Given the description of an element on the screen output the (x, y) to click on. 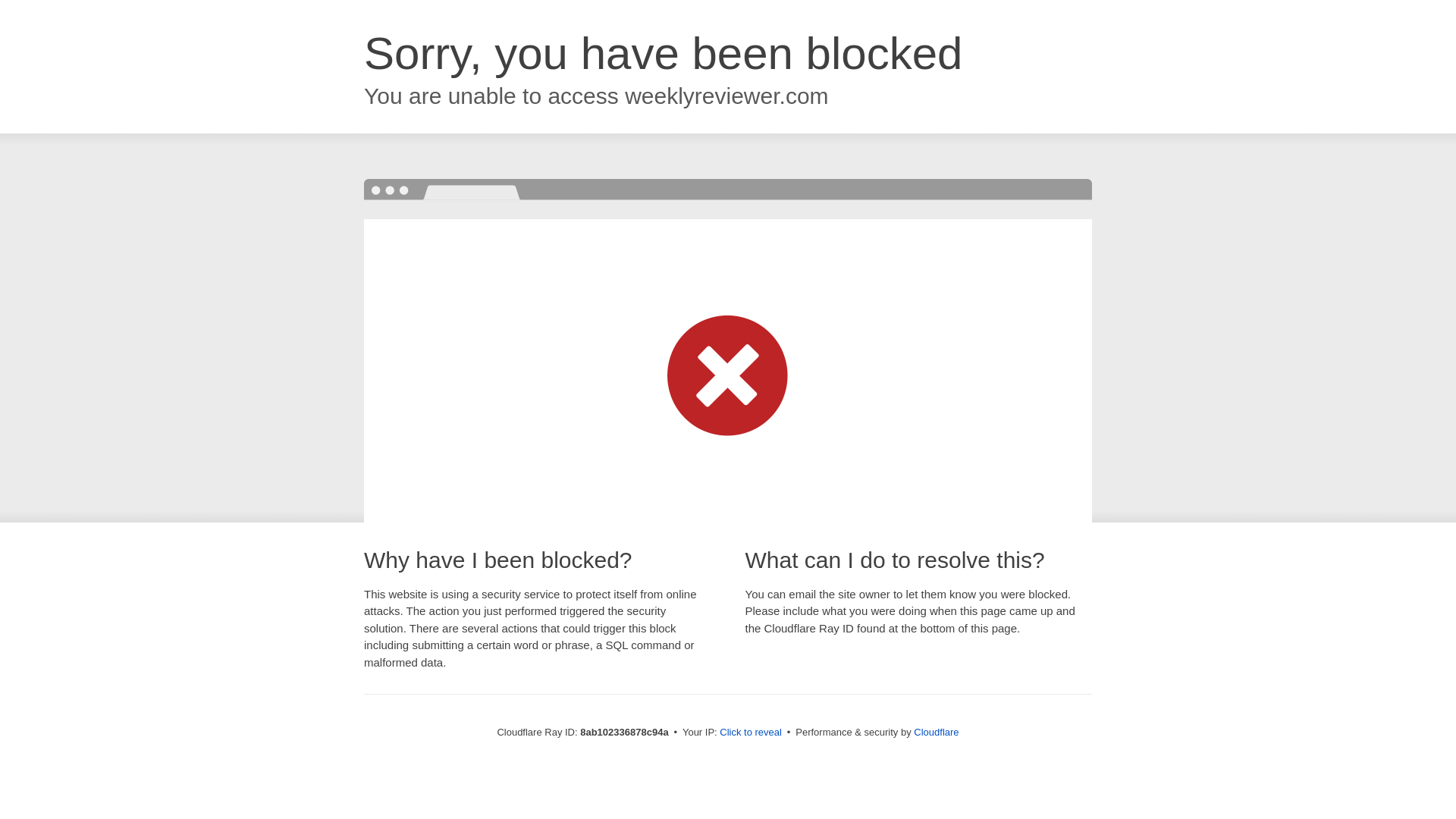
Click to reveal (750, 732)
Cloudflare (936, 731)
